Given the description of an element on the screen output the (x, y) to click on. 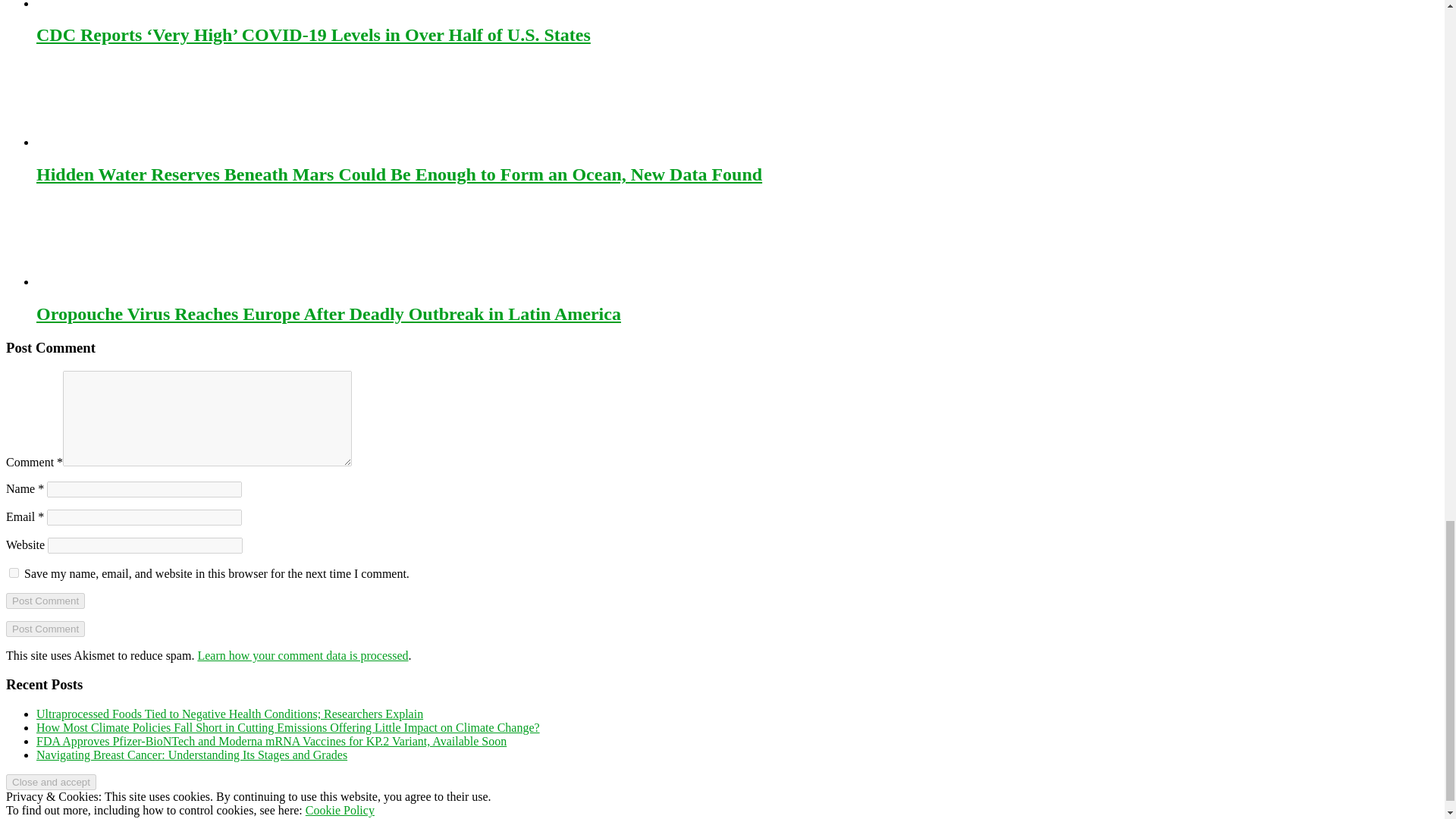
yes (13, 573)
Close and accept (50, 781)
Post Comment (44, 628)
Post Comment (44, 600)
